Given the description of an element on the screen output the (x, y) to click on. 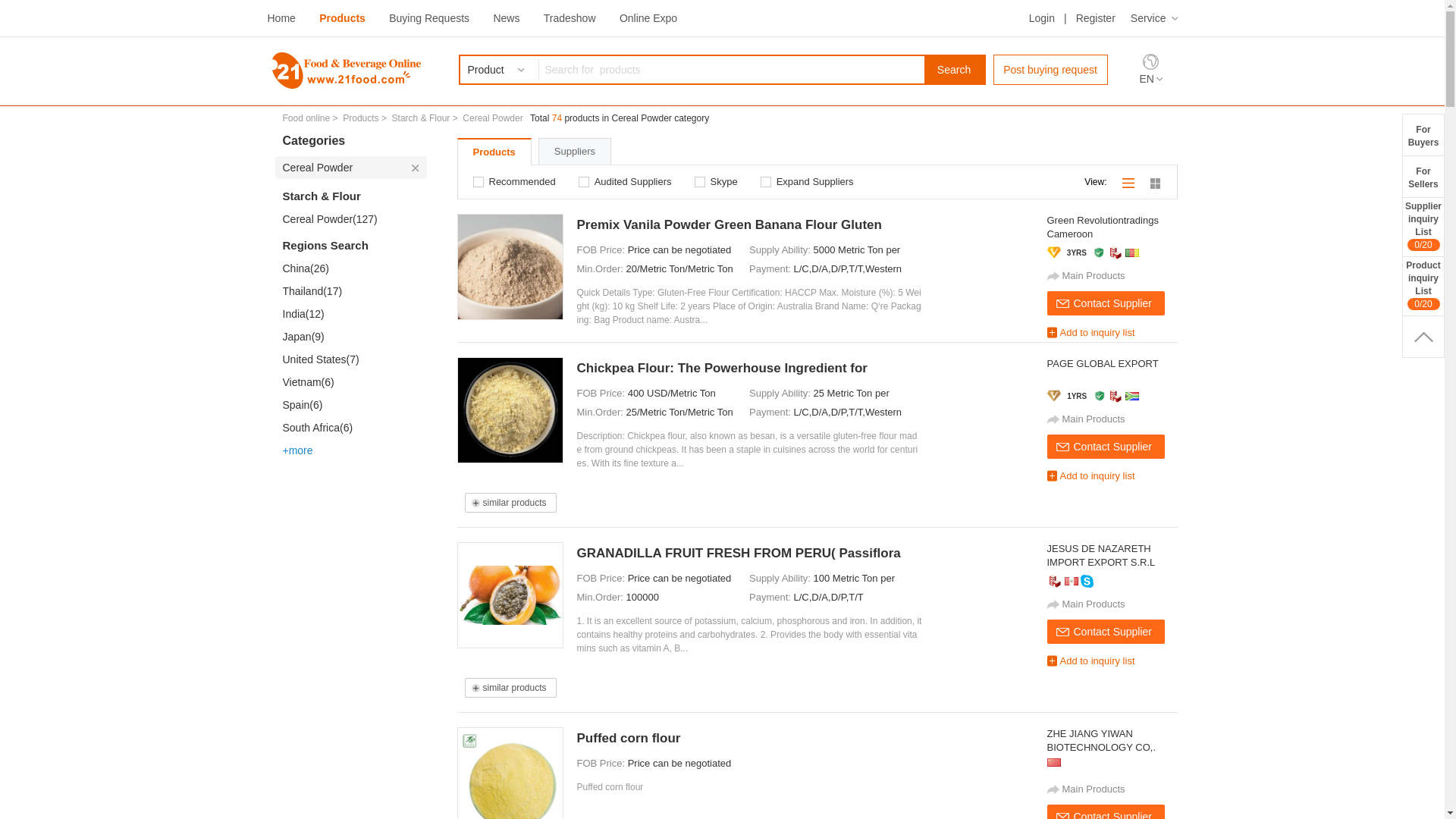
South Africa(6) Element type: text (354, 427)
Main Products Element type: text (1111, 603)
Search Element type: text (953, 69)
Contact Supplier Element type: text (1105, 303)
Products Element type: text (342, 18)
similar products Element type: text (514, 687)
Spain(6) Element type: text (354, 404)
Product
inquiry
List
0/20 Element type: text (1423, 285)
  Element type: text (1155, 181)
ZHE JIANG YIWAN BIOTECHNOLOGY CO,. LTD. Element type: text (1108, 740)
Japan(9) Element type: text (354, 336)
Tradeshow Element type: text (569, 18)
Add to inquiry list Element type: text (1111, 332)
  Element type: text (1423, 336)
on Element type: text (702, 177)
Suppliers Element type: text (574, 151)
Peru Element type: hover (1071, 580)
Login Element type: text (1041, 18)
similar products Element type: text (514, 502)
Register Element type: text (1095, 18)
Chickpea Flour: The Powerhouse Ingredient for Delicious Element type: text (748, 368)
Online Expo Element type: text (648, 18)
GRANADILLA FRUIT FRESH FROM PERU( Passiflora ligularis Element type: text (748, 553)
Products Element type: text (360, 117)
Premix Vanila Powder Green Banana Flour Gluten Element type: text (748, 224)
Cameroon Element type: hover (1132, 252)
on Element type: text (586, 177)
Add to inquiry list Element type: text (1111, 660)
on Element type: text (481, 177)
For
Buyers Element type: text (1423, 134)
Green Revolutiontradings Cameroon Element type: text (1108, 227)
Thailand(17) Element type: text (354, 290)
Supplier
inquiry
List
0/20 Element type: text (1423, 226)
Post buying request Element type: text (1050, 69)
EN Element type: text (1150, 78)
Food online Element type: text (305, 117)
  Element type: text (1128, 181)
Buying Requests Element type: text (429, 18)
Service Element type: text (1153, 18)
Main Products Element type: text (1111, 275)
Manufacture Element type: hover (1115, 252)
Starch & Flour Element type: text (350, 196)
United States(7) Element type: text (354, 359)
India(12) Element type: text (354, 313)
+more Element type: text (354, 450)
Contact Supplier Element type: text (1105, 446)
News Element type: text (505, 18)
Vietnam(6) Element type: text (354, 381)
Manufacture Element type: hover (1053, 580)
Products Element type: text (493, 151)
Add to inquiry list Element type: text (1111, 475)
Main Products Element type: text (1111, 418)
Contact Supplier Element type: text (1105, 631)
PAGE GLOBAL EXPORT Element type: text (1108, 370)
on Element type: text (768, 177)
Puffed corn flour Element type: text (748, 738)
Starch & Flour Element type: text (421, 117)
Main Products Element type: text (1111, 788)
For
Sellers Element type: text (1423, 176)
China(26) Element type: text (354, 268)
China Element type: hover (1053, 762)
Manufacture Element type: hover (1115, 395)
JESUS DE NAZARETH IMPORT EXPORT S.R.L Element type: text (1108, 555)
Home Element type: text (280, 18)
South Africa Element type: hover (1132, 395)
Cereal Powder(127) Element type: text (354, 218)
